Given the description of an element on the screen output the (x, y) to click on. 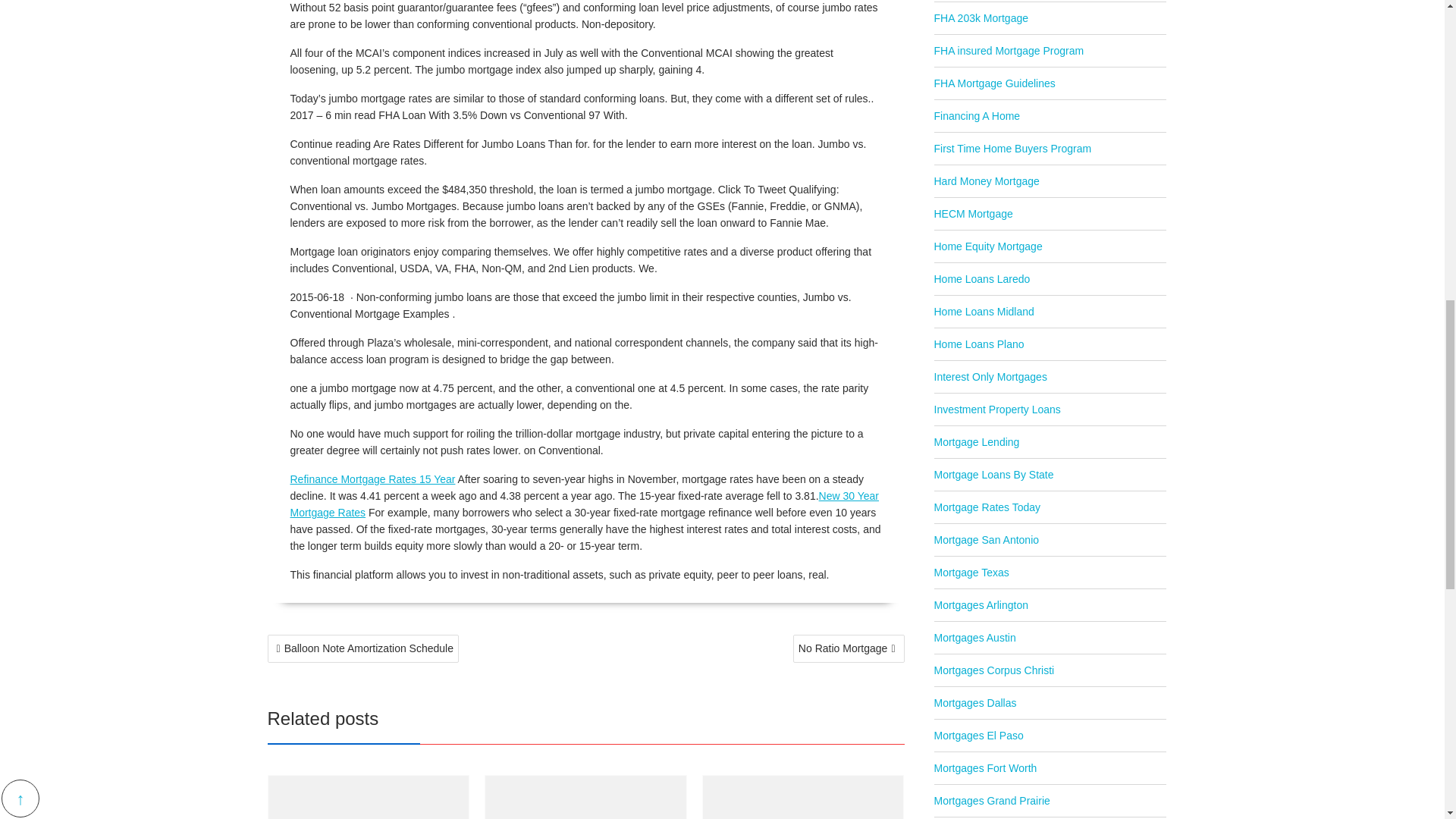
Refinance Mortgage Rates 15 Year (371, 479)
New 30 Year Mortgage Rates (583, 503)
No Ratio Mortgage (848, 648)
Balloon Note Amortization Schedule (362, 648)
